Given the description of an element on the screen output the (x, y) to click on. 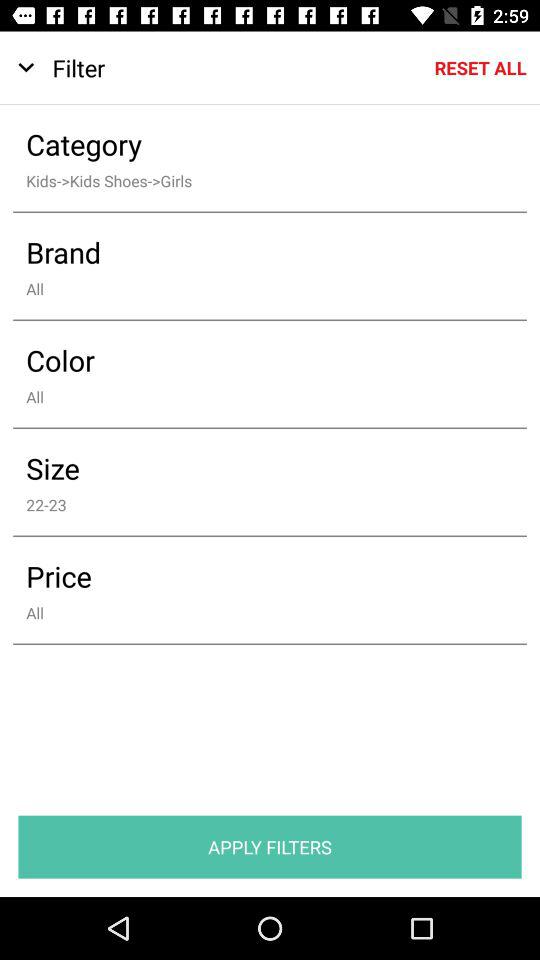
turn off the price icon (256, 575)
